Given the description of an element on the screen output the (x, y) to click on. 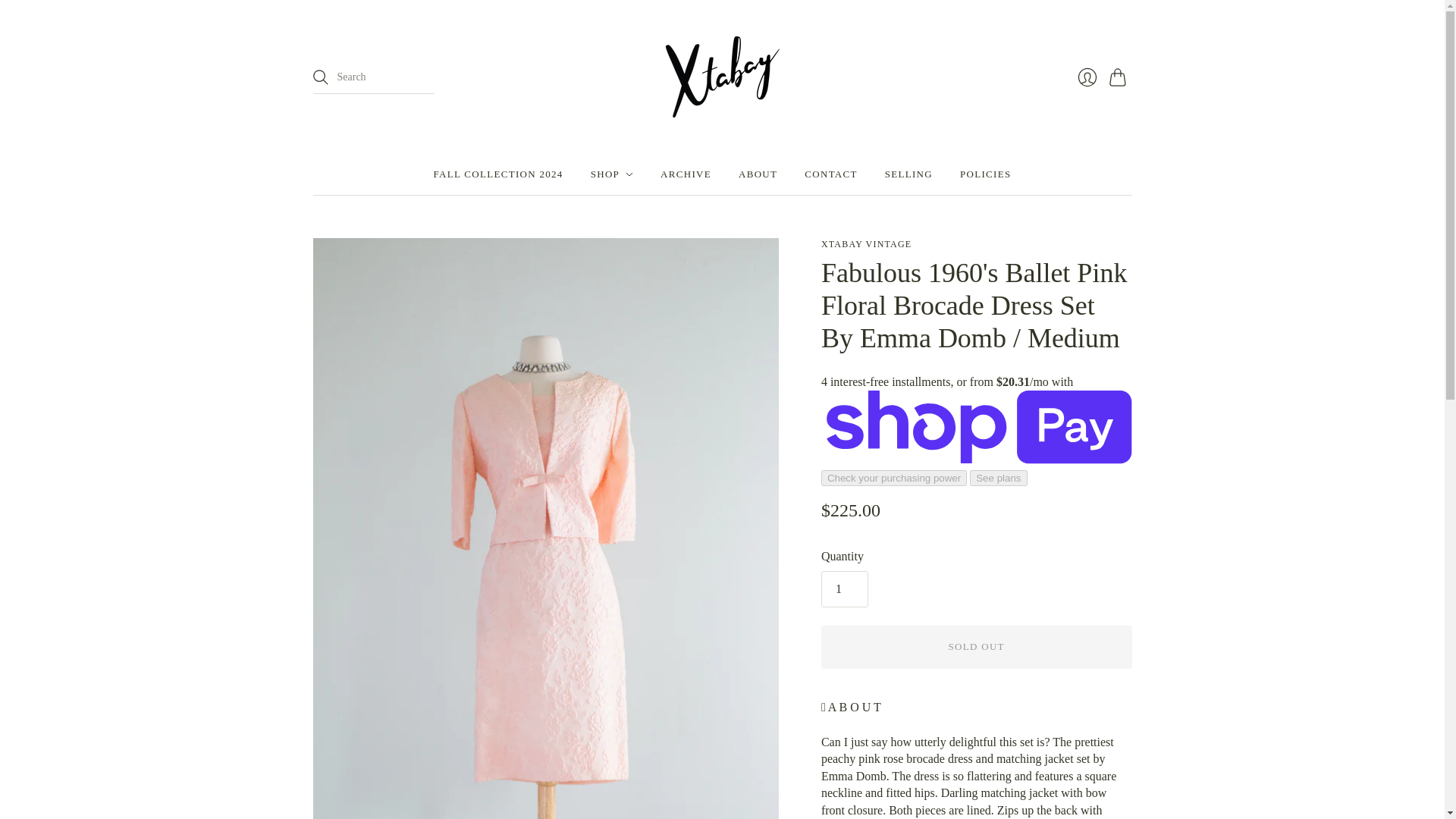
SELLING (909, 174)
Xtabay Vintage (866, 244)
POLICIES (984, 174)
ABOUT (757, 174)
SHOP (612, 174)
CONTACT (831, 174)
FALL COLLECTION 2024 (498, 174)
ARCHIVE (686, 174)
Cart (1119, 77)
Login (1086, 77)
1 (844, 588)
